Given the description of an element on the screen output the (x, y) to click on. 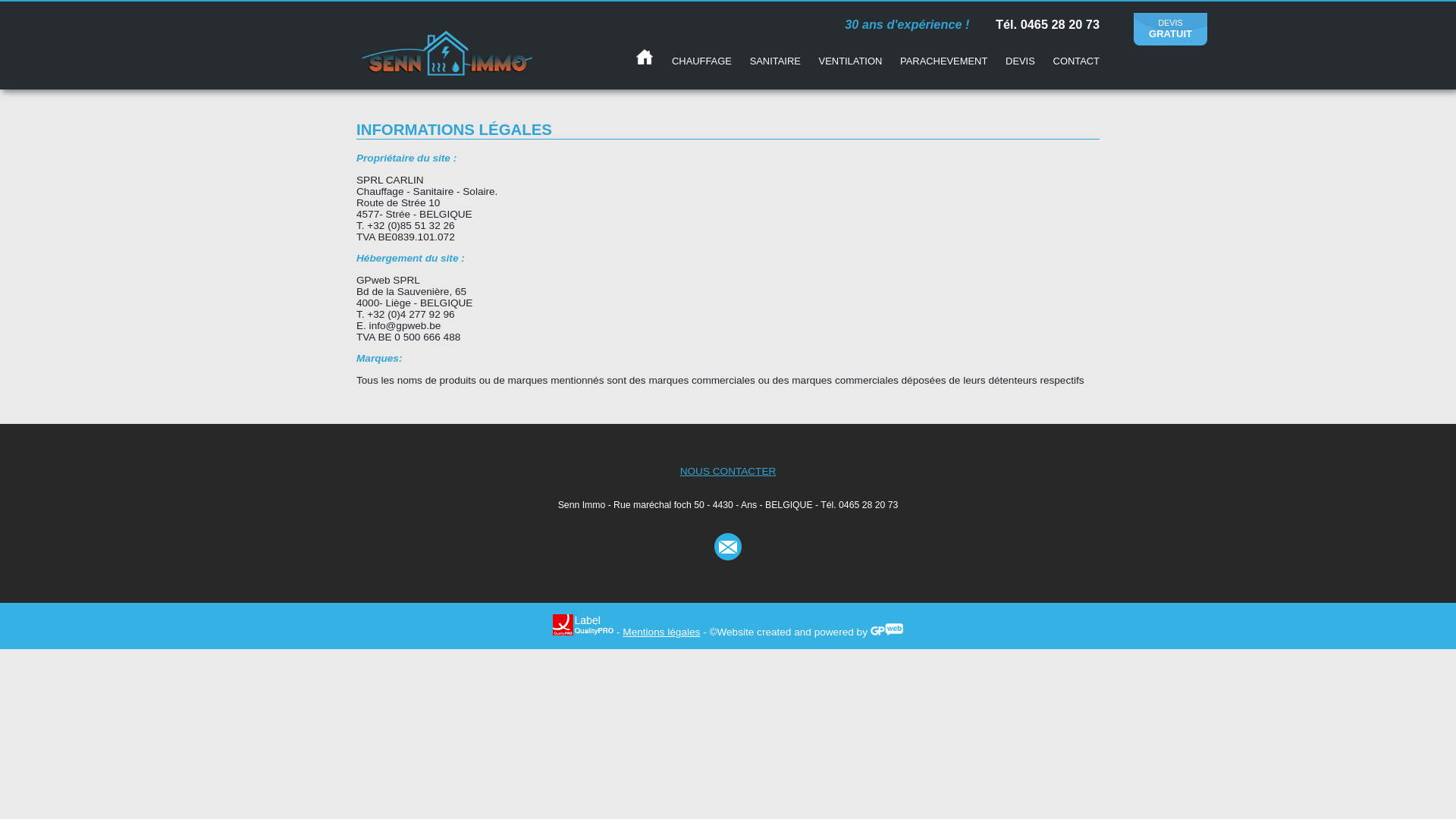
SANITAIRE Element type: text (774, 60)
CHAUFFAGE Element type: text (701, 60)
VENTILATION Element type: text (850, 60)
DEVIS
GRATUIT Element type: text (1170, 28)
CONTACT Element type: text (1076, 60)
PARACHEVEMENT Element type: text (943, 60)
DEVIS Element type: text (1020, 60)
NOUS CONTACTER Element type: text (728, 470)
